Given the description of an element on the screen output the (x, y) to click on. 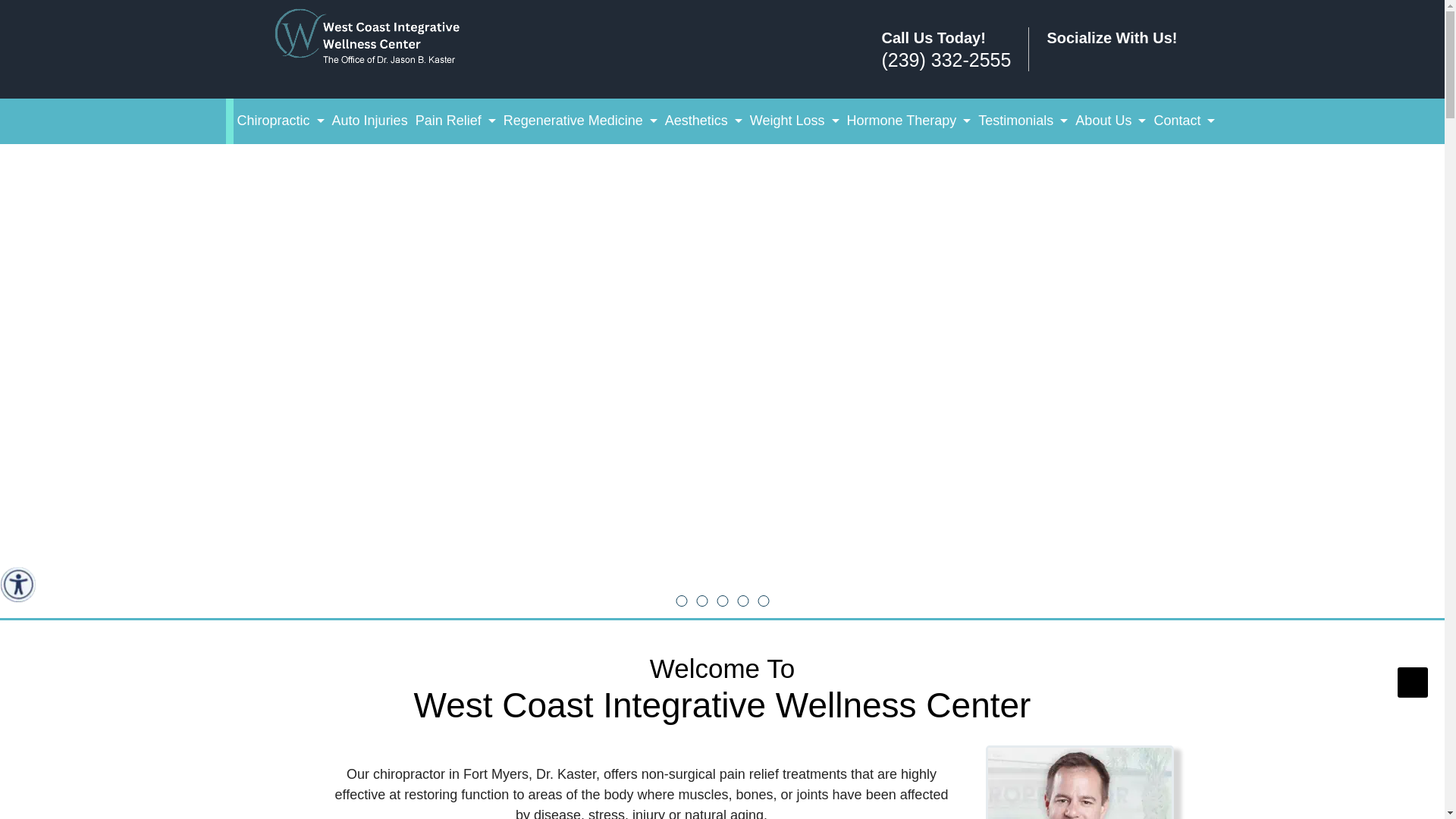
Auto Injuries (370, 121)
Pain Relief (455, 121)
Chiropractic (280, 121)
Home (379, 38)
Regenerative Medicine (580, 121)
